Given the description of an element on the screen output the (x, y) to click on. 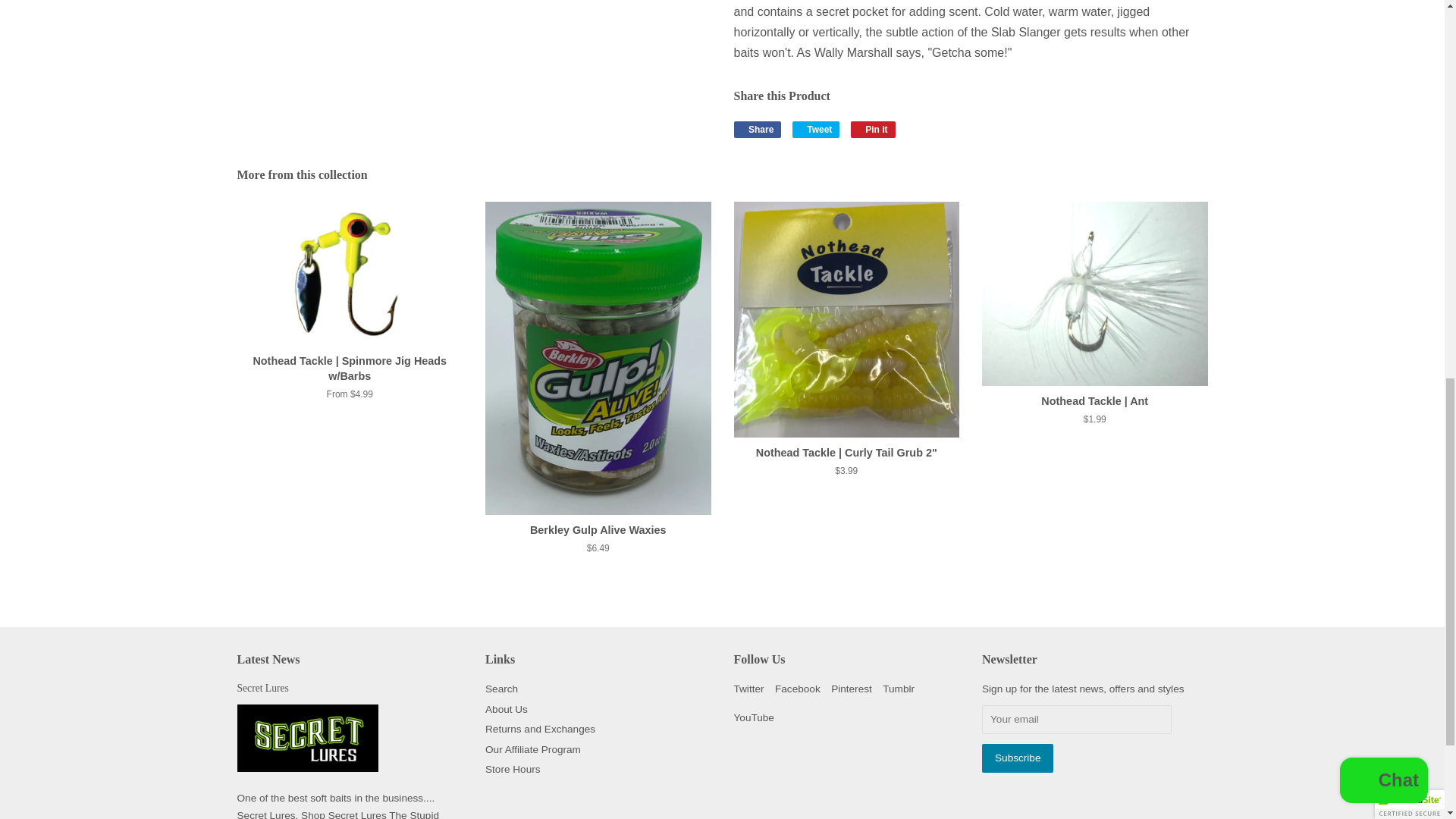
Tweet on Twitter (816, 129)
Share on Facebook (757, 129)
Wuhah on Tumblr (898, 688)
Wuhah on Pinterest (851, 688)
Wuhah on Twitter (748, 688)
Pin on Pinterest (872, 129)
Wuhah on Facebook (797, 688)
Subscribe (1016, 757)
Wuhah on YouTube (753, 717)
